Given the description of an element on the screen output the (x, y) to click on. 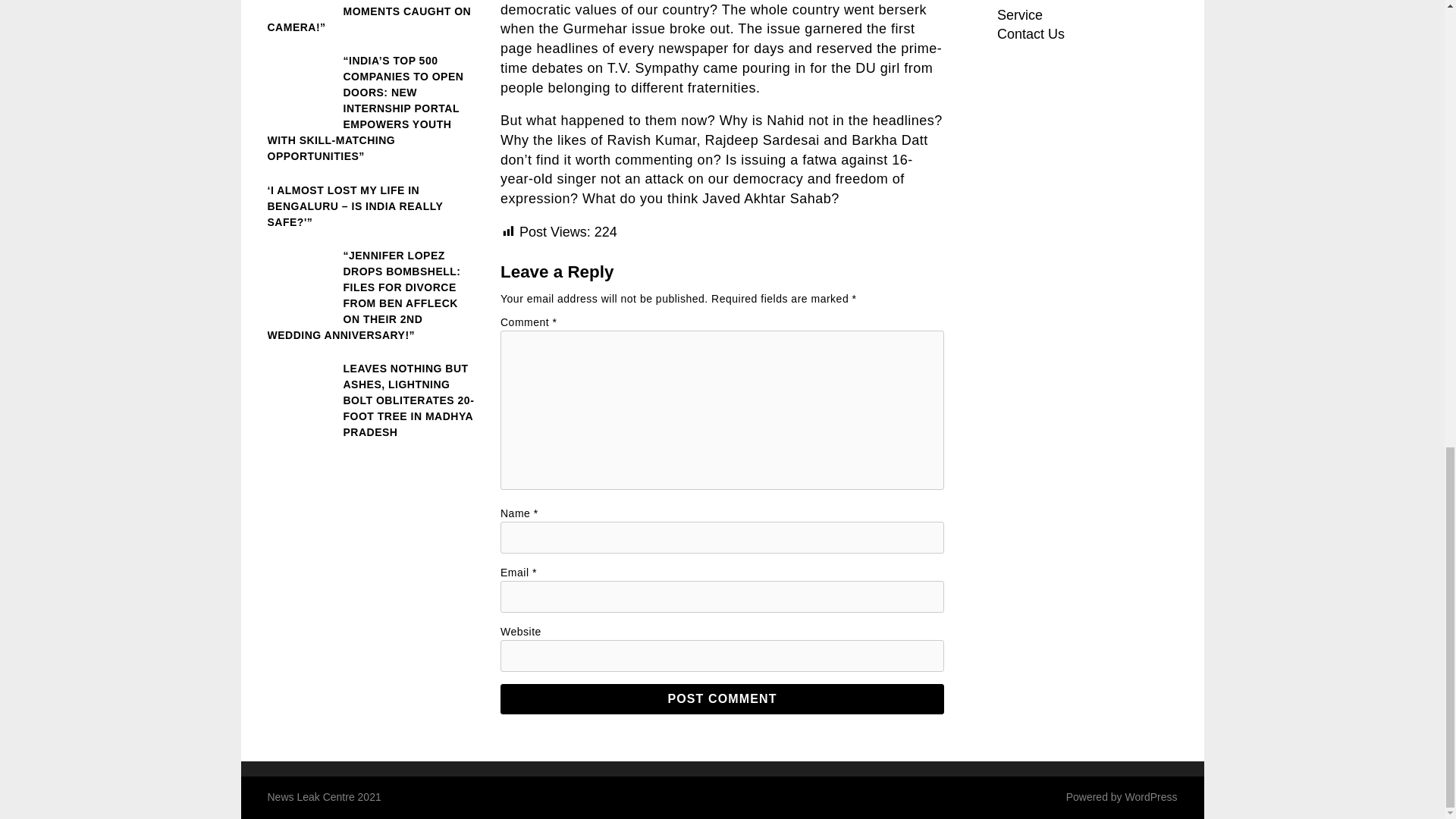
Post Comment (721, 698)
Contact Us (1030, 33)
Post Comment (721, 698)
NLC Media Pvt Ltd Terms of Service (1082, 11)
WordPress (1151, 797)
